Given the description of an element on the screen output the (x, y) to click on. 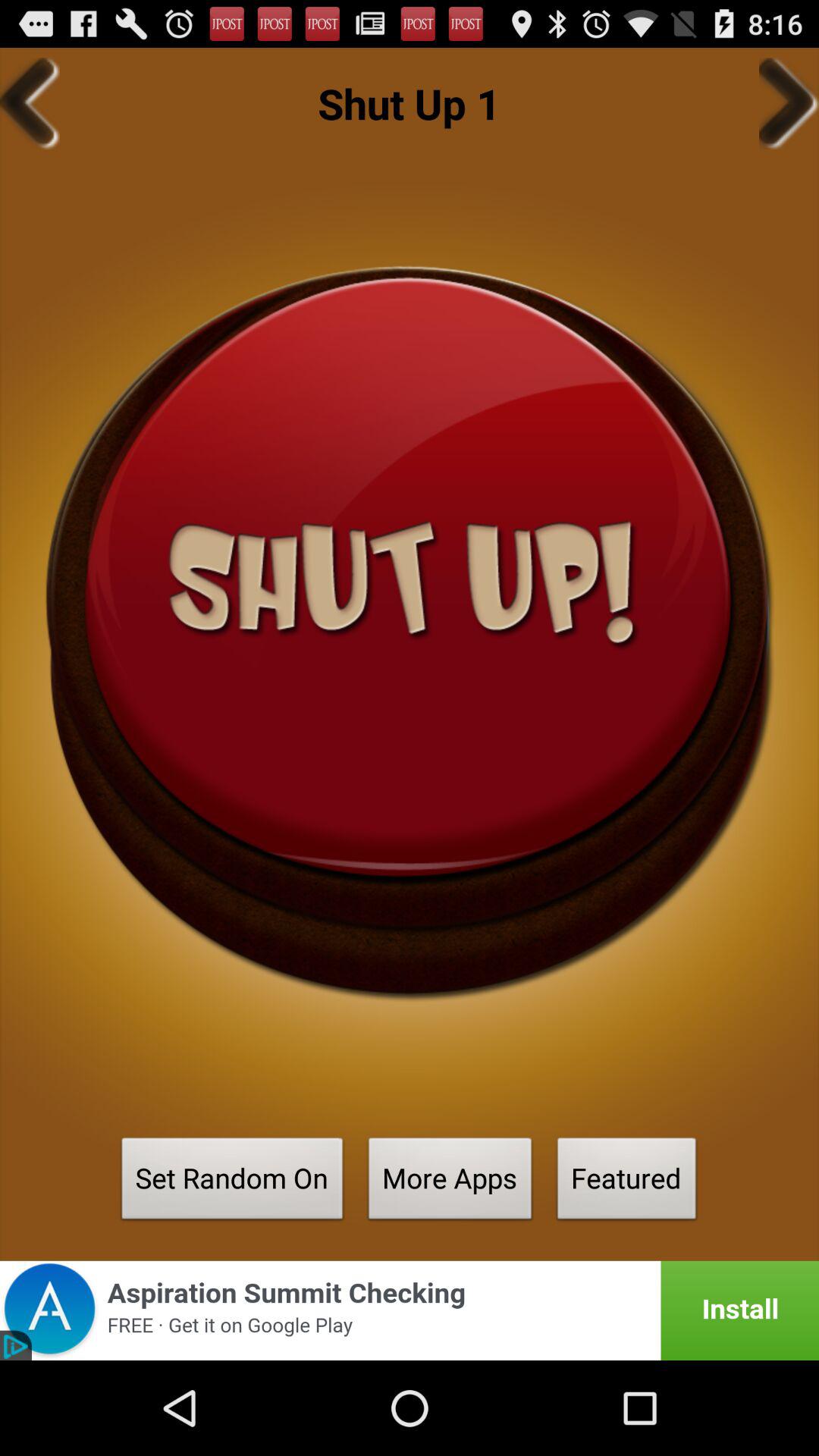
click item above the more apps (409, 632)
